Given the description of an element on the screen output the (x, y) to click on. 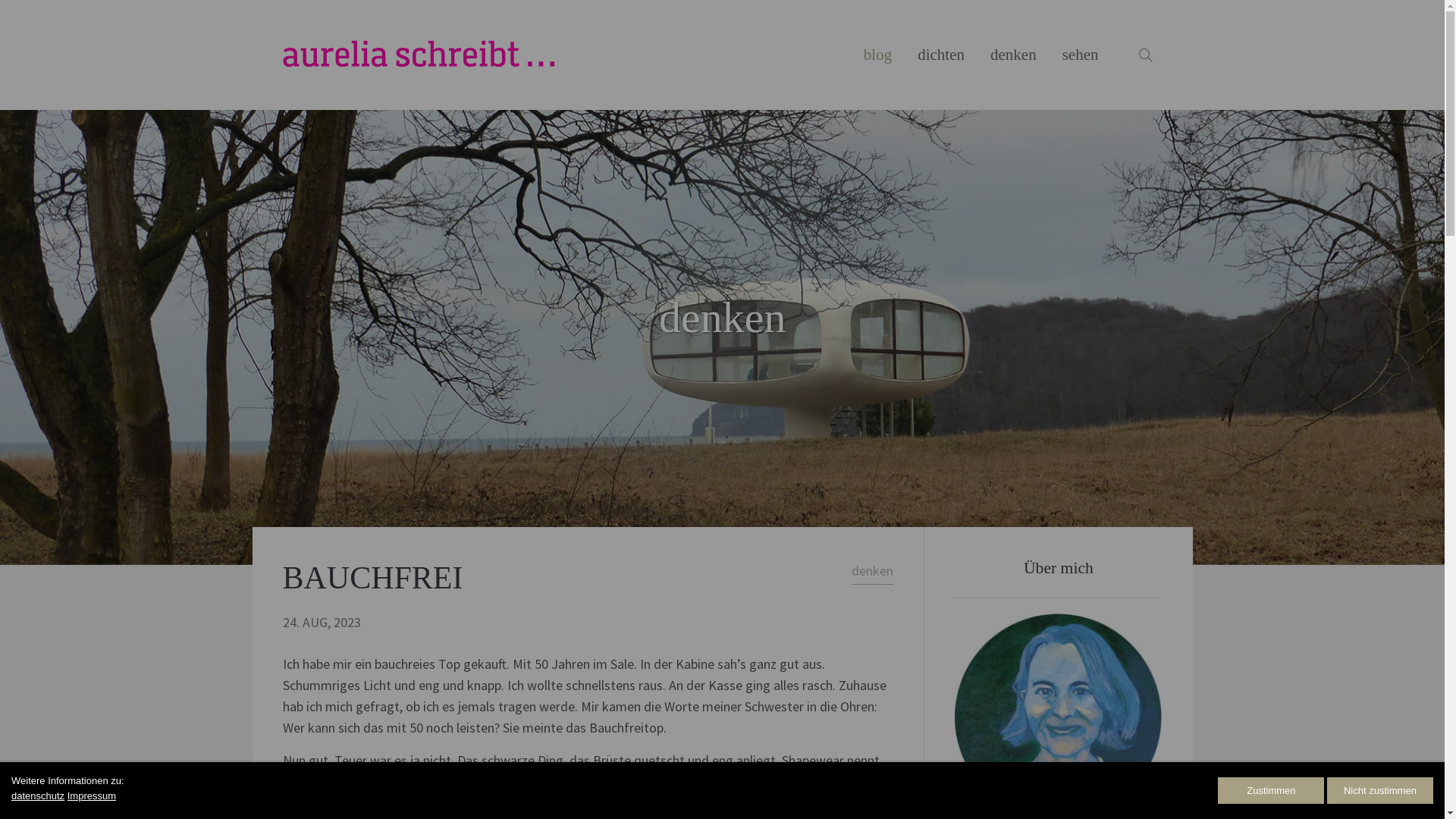
dichten Element type: text (940, 54)
Zustimmen Element type: text (1270, 790)
denken Element type: text (1013, 54)
Impressum Element type: text (91, 795)
datenschutz Element type: text (37, 795)
blog Element type: text (877, 54)
sehen Element type: text (1080, 54)
Nicht zustimmen Element type: text (1380, 790)
